Given the description of an element on the screen output the (x, y) to click on. 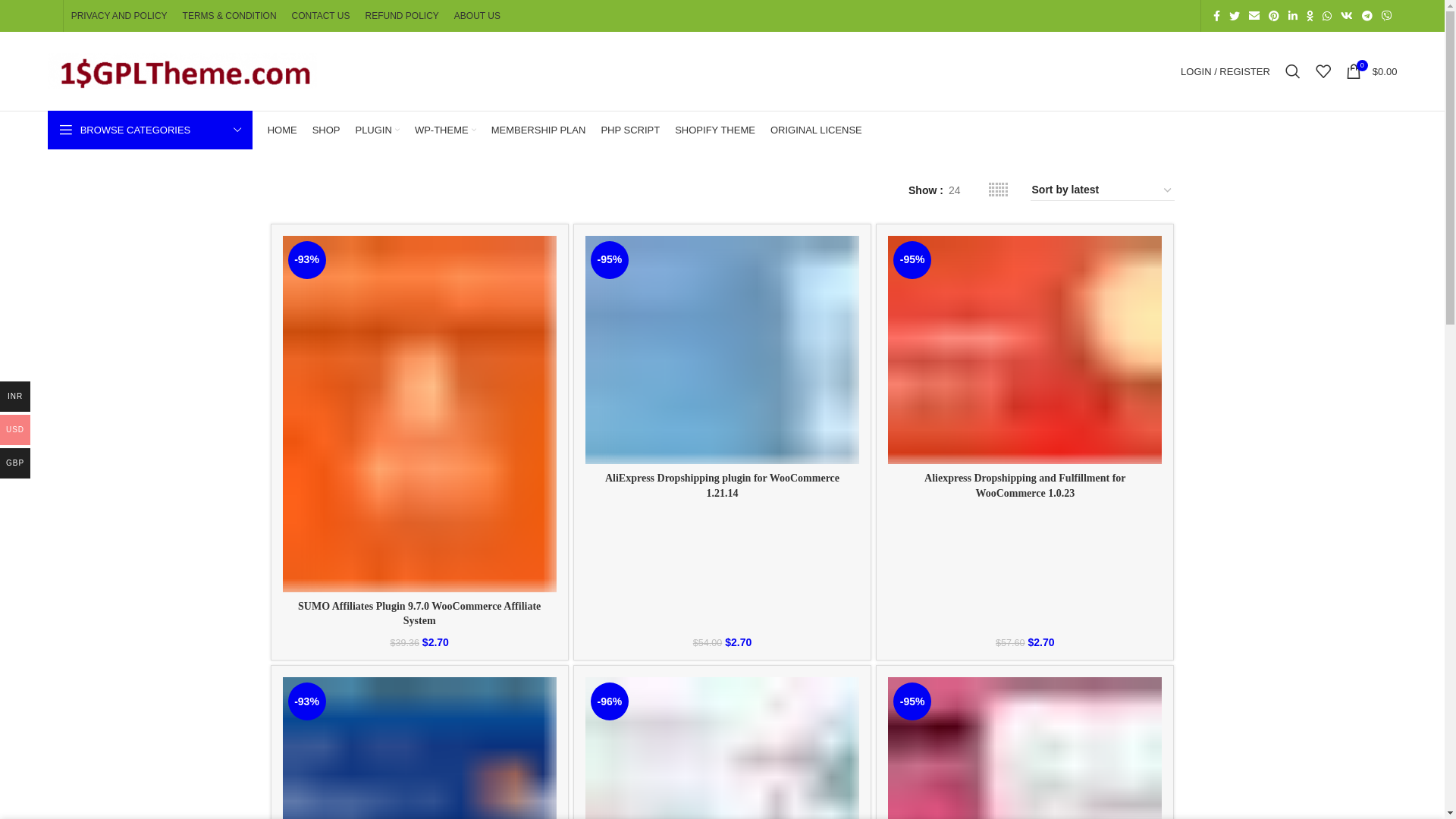
-95% Element type: text (1024, 349)
24 Element type: text (954, 190)
-93% Element type: text (418, 413)
TERMS & CONDITION Element type: text (229, 15)
MEMBERSHIP PLAN Element type: text (538, 130)
LOGIN / REGISTER Element type: text (1225, 71)
-95% Element type: text (722, 349)
SHOPIFY THEME Element type: text (714, 130)
CONTACT US Element type: text (320, 15)
PRIVACY AND POLICY Element type: text (119, 15)
Log in Element type: text (1144, 312)
Search Element type: hover (1292, 71)
My Wishlist Element type: hover (1323, 71)
PLUGIN Element type: text (376, 130)
ABOUT US Element type: text (477, 15)
0
$0.00 Element type: text (1371, 71)
REFUND POLICY Element type: text (401, 15)
HOME Element type: text (282, 130)
SHOP Element type: text (326, 130)
AliExpress Dropshipping plugin for WooCommerce 1.21.14 Element type: text (722, 485)
WP-THEME Element type: text (445, 130)
PHP SCRIPT Element type: text (629, 130)
ORIGINAL LICENSE Element type: text (816, 130)
SUMO Affiliates Plugin 9.7.0 WooCommerce Affiliate System Element type: text (419, 613)
